Given the description of an element on the screen output the (x, y) to click on. 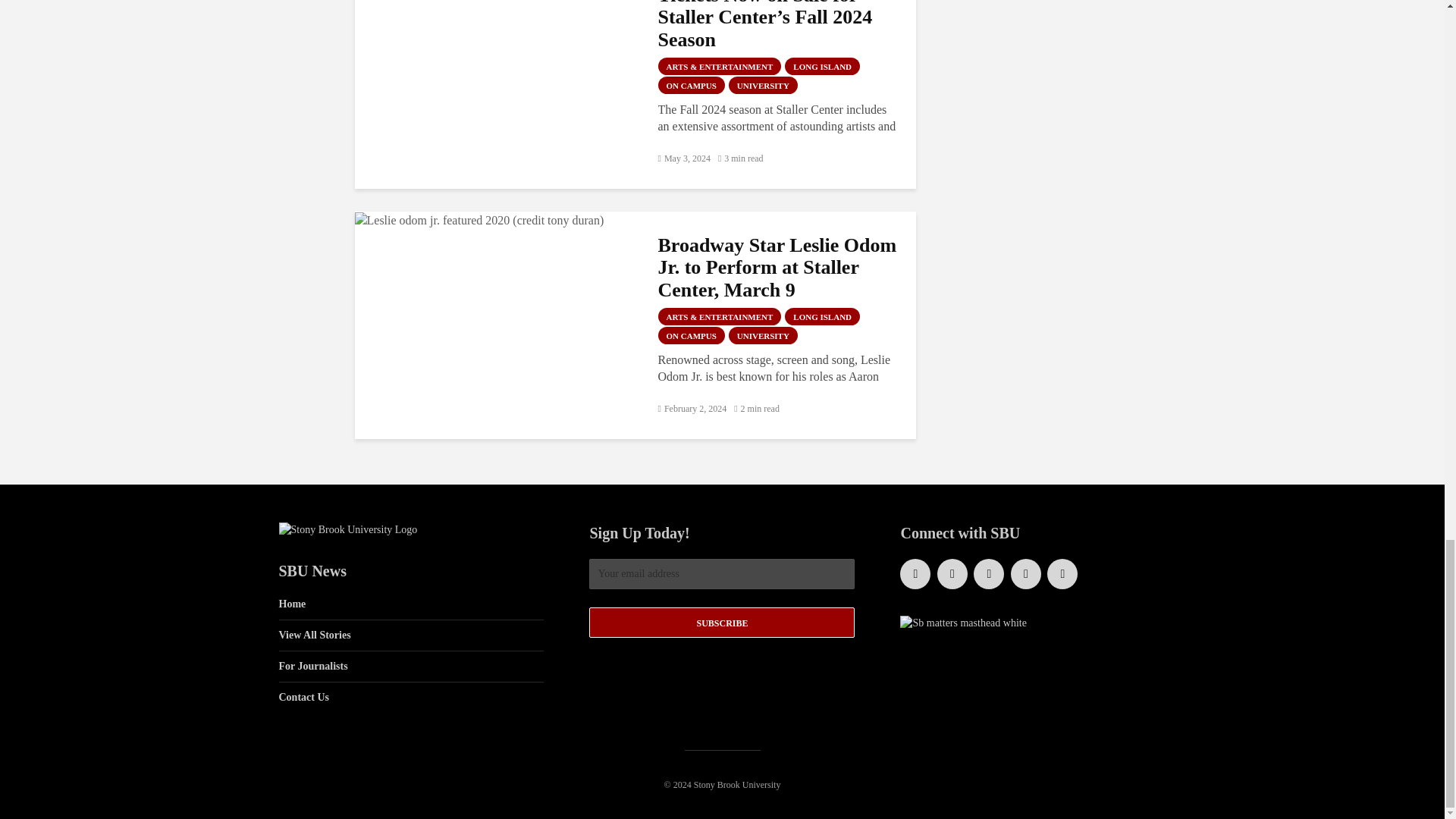
Subscribe (721, 622)
